Given the description of an element on the screen output the (x, y) to click on. 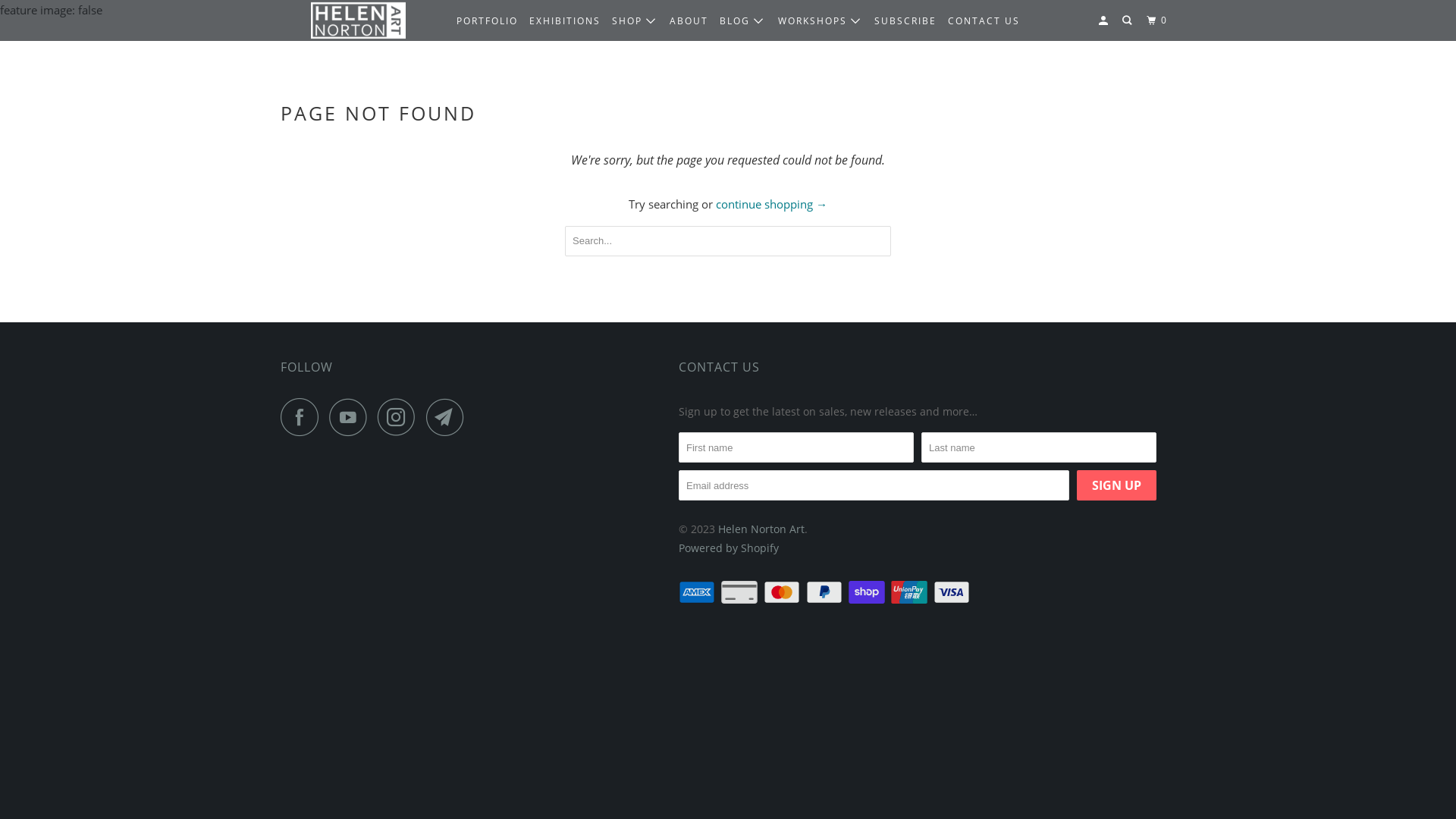
Helen Norton Art Element type: text (761, 528)
CONTACT US Element type: text (718, 367)
EXHIBITIONS Element type: text (564, 21)
Helen Norton Art on YouTube Element type: hover (351, 417)
SUBSCRIBE Element type: text (905, 21)
SHOP Element type: text (634, 20)
BLOG Element type: text (742, 20)
Helen Norton Art Element type: hover (358, 20)
Search Element type: hover (1128, 20)
Powered by Shopify Element type: text (728, 547)
Helen Norton Art on Facebook Element type: hover (303, 417)
Email Helen Norton Art Element type: hover (448, 417)
CONTACT US Element type: text (983, 21)
PORTFOLIO Element type: text (486, 21)
Sign Up Element type: text (1116, 485)
WORKSHOPS Element type: text (820, 20)
Helen Norton Art on Instagram Element type: hover (400, 417)
ABOUT Element type: text (688, 21)
0 Element type: text (1158, 20)
My Account  Element type: hover (1104, 20)
